Given the description of an element on the screen output the (x, y) to click on. 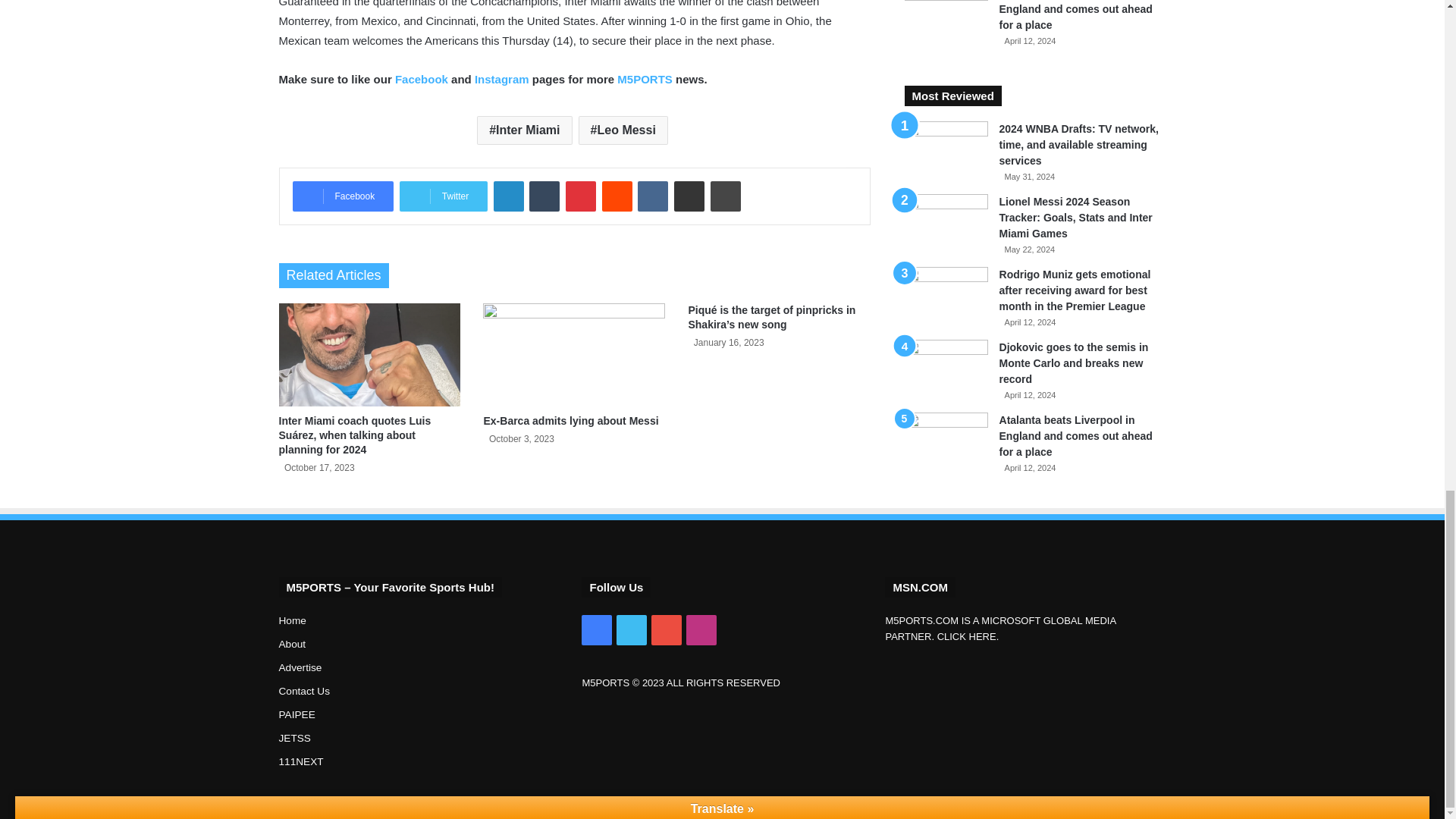
VKontakte (652, 195)
Share via Email (689, 195)
Pinterest (580, 195)
Twitter (442, 195)
Reddit (616, 195)
Tumblr (544, 195)
LinkedIn (508, 195)
Facebook (343, 195)
